Given the description of an element on the screen output the (x, y) to click on. 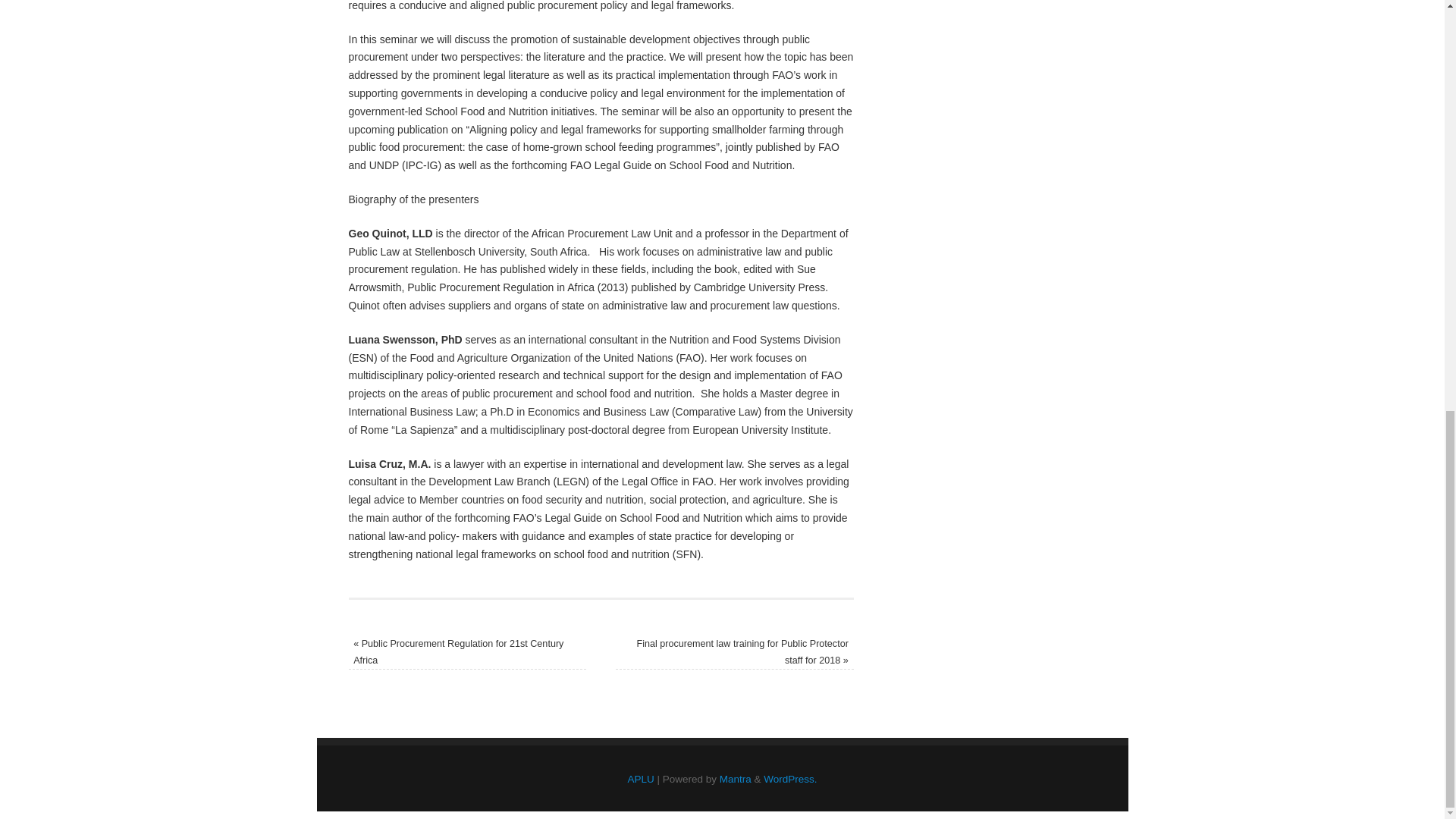
Mantra Theme by Cryout Creations (735, 778)
Semantic Personal Publishing Platform (789, 778)
APLU (640, 778)
APLU (640, 778)
